Given the description of an element on the screen output the (x, y) to click on. 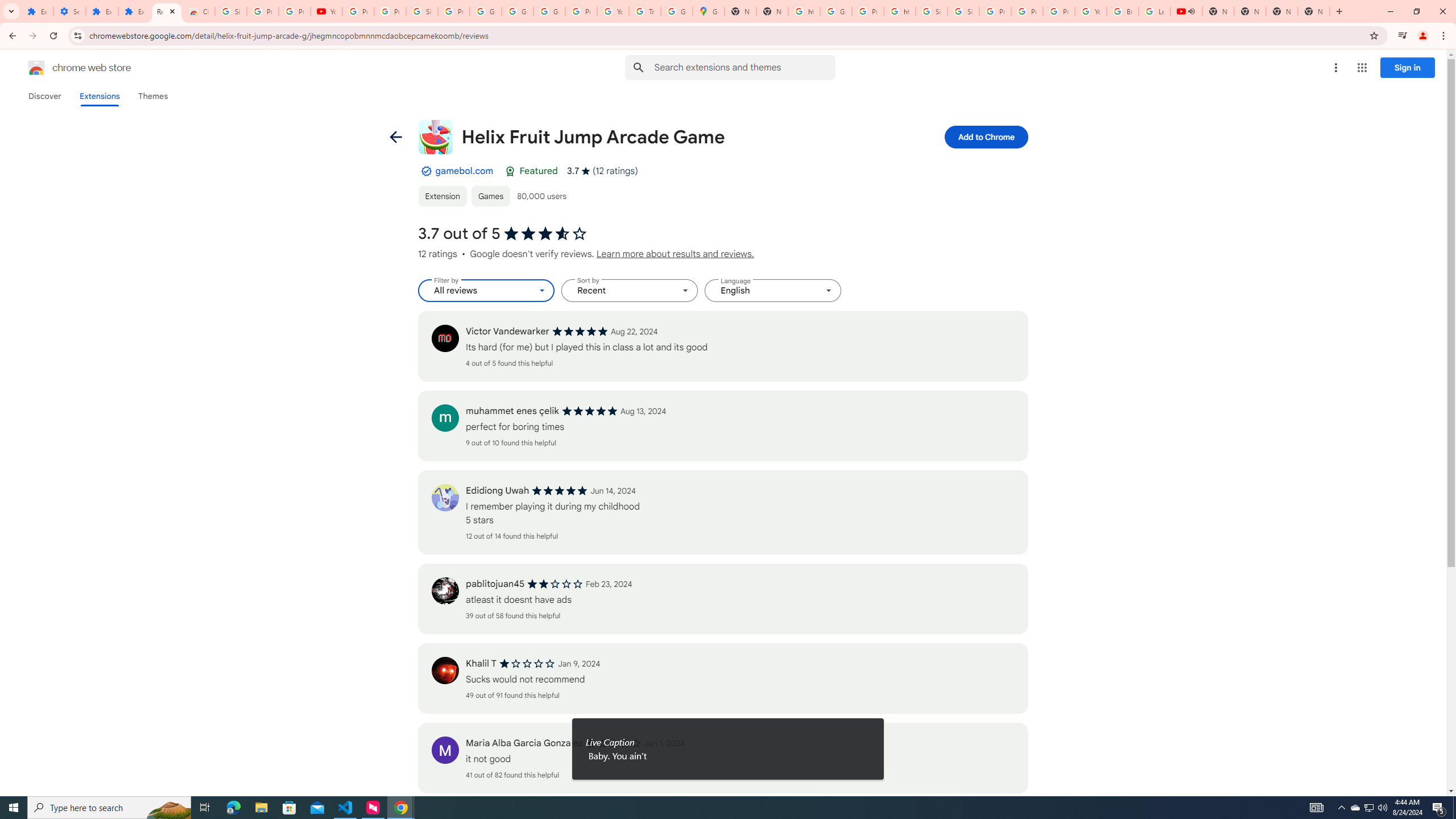
Review's profile picture (444, 750)
YouTube (1091, 11)
https://scholar.google.com/ (899, 11)
Filter by All reviews (485, 290)
Sign in - Google Accounts (931, 11)
Privacy Help Center - Policies Help (995, 11)
Search input (744, 67)
Language English (772, 290)
5 out of 5 stars (559, 490)
